Given the description of an element on the screen output the (x, y) to click on. 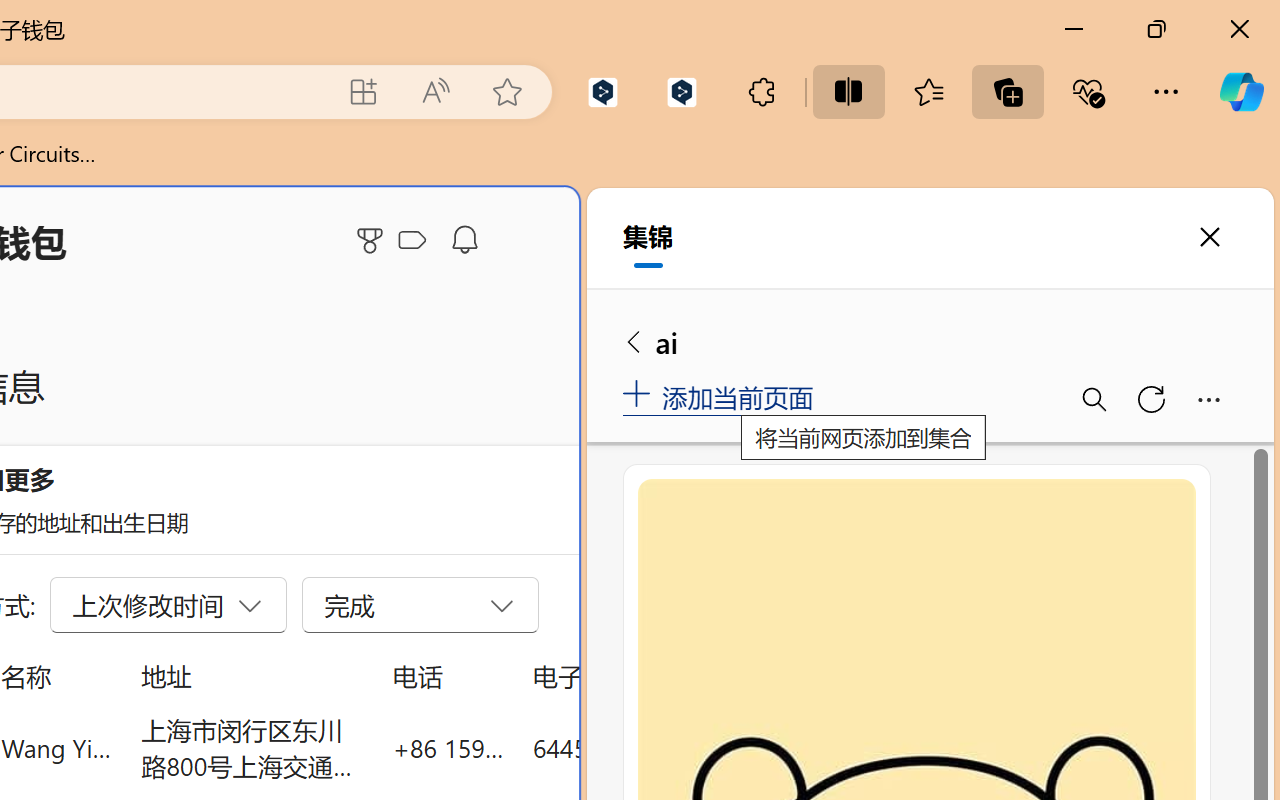
Microsoft Rewards (373, 240)
Copilot (Ctrl+Shift+.) (1241, 91)
